Given the description of an element on the screen output the (x, y) to click on. 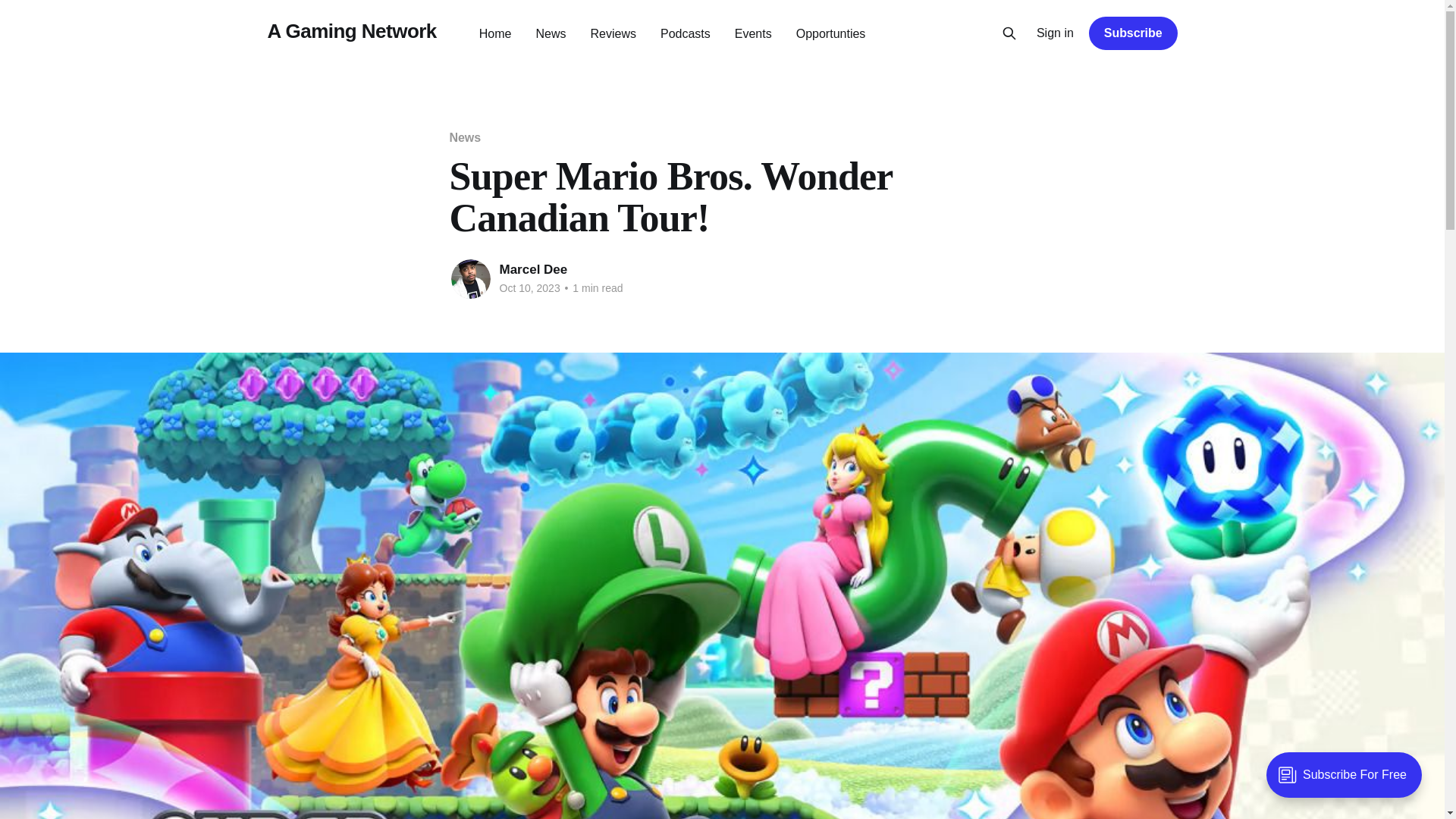
A Gaming Network (350, 31)
News (550, 33)
Podcasts (685, 33)
News (464, 137)
Sign in (1055, 33)
Opportunties (831, 33)
Home (495, 33)
Reviews (613, 33)
Marcel Dee (533, 269)
Subscribe (1133, 32)
Events (753, 33)
